Given the description of an element on the screen output the (x, y) to click on. 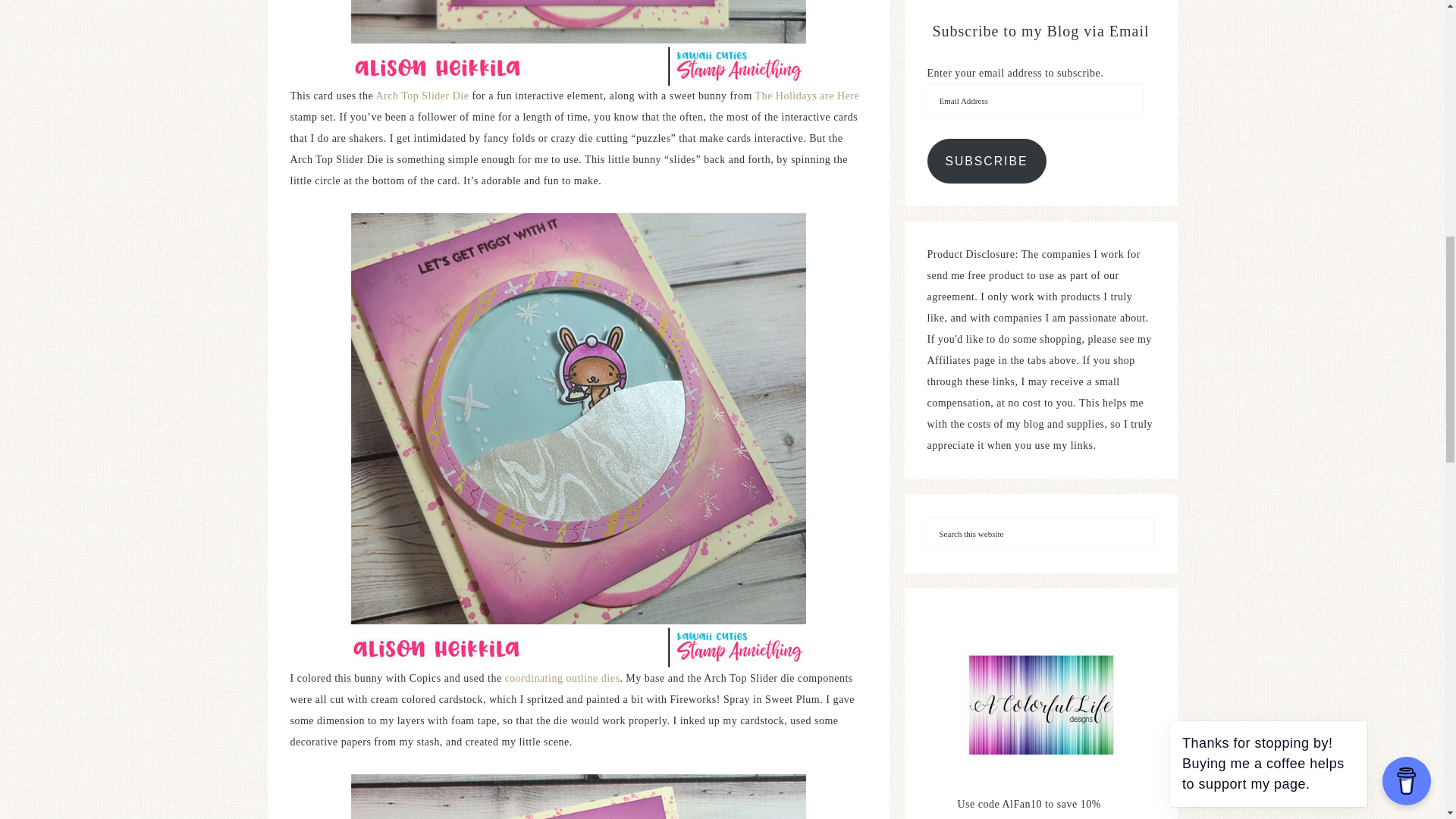
SUBSCRIBE (985, 160)
Arch Top Slider Die (421, 95)
The Holidays are Here (807, 95)
coordinating outline dies (562, 677)
